Given the description of an element on the screen output the (x, y) to click on. 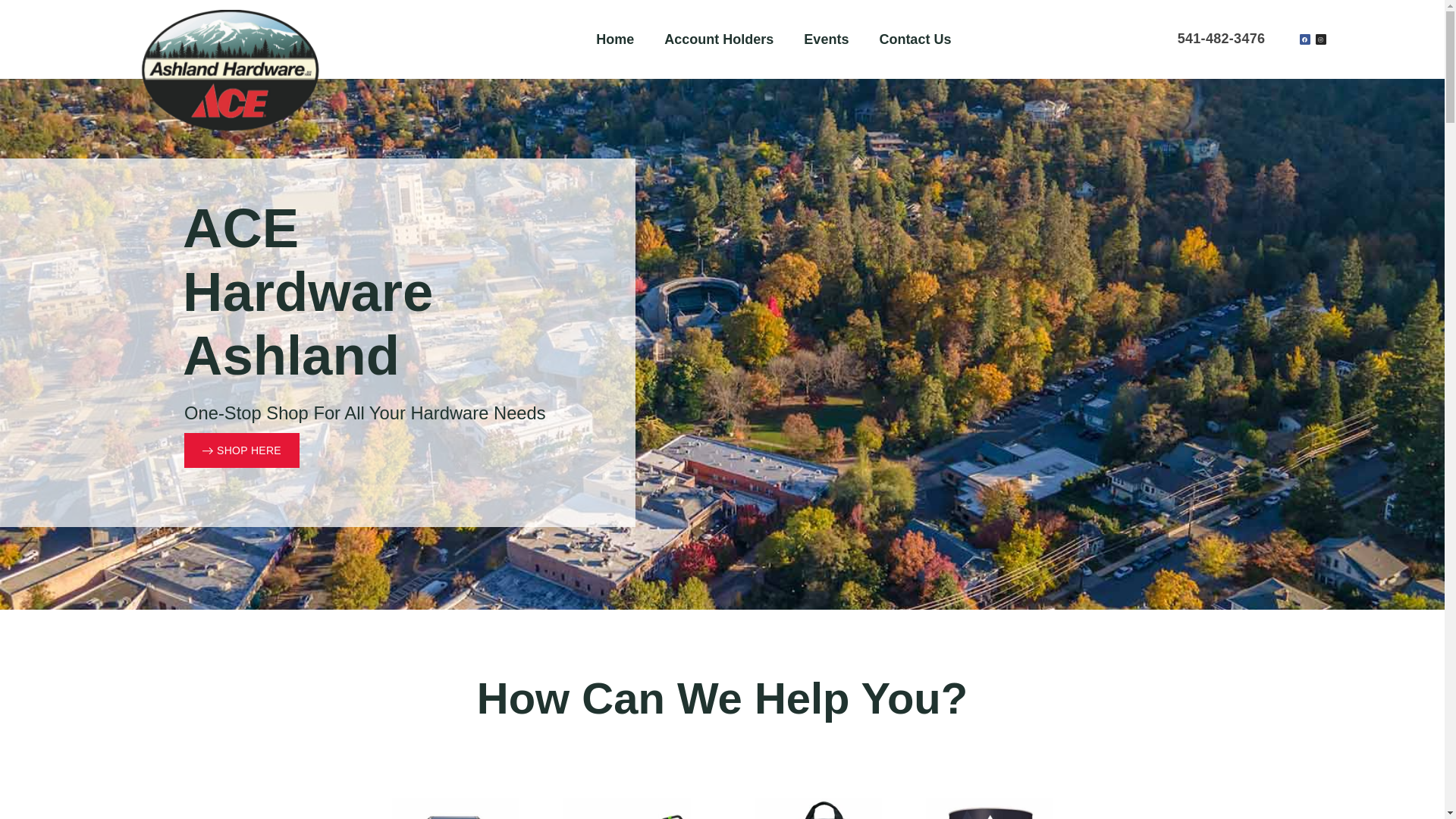
Events (826, 39)
Account Holders (719, 39)
SHOP HERE (247, 451)
Home (614, 39)
Contact Us (914, 39)
541-482-3476 (1221, 38)
